Given the description of an element on the screen output the (x, y) to click on. 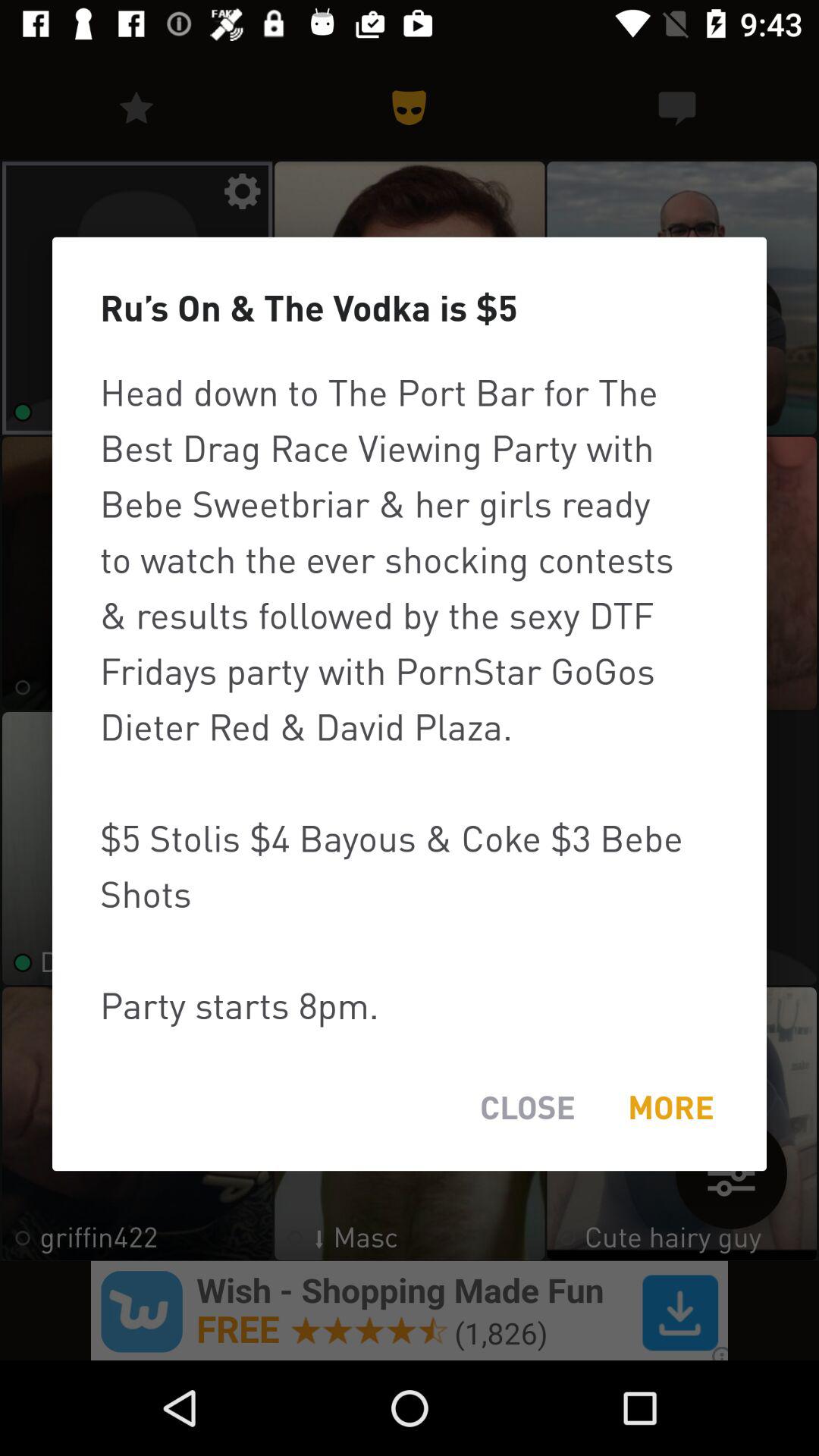
choose the icon next to the more (527, 1107)
